Given the description of an element on the screen output the (x, y) to click on. 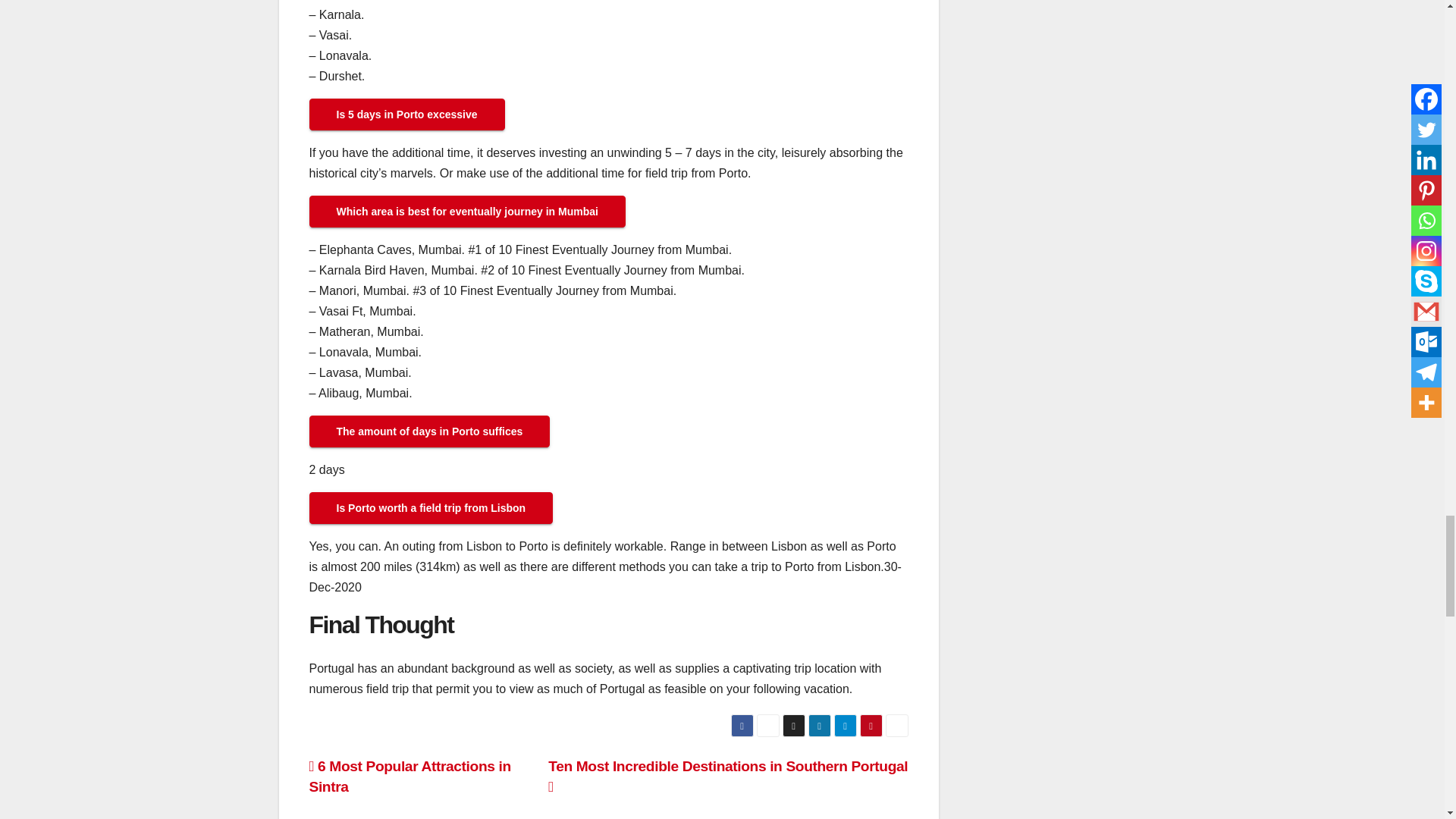
The amount of days in Porto suffices (429, 431)
Is 5 days in Porto excessive (406, 114)
Is Porto worth a field trip from Lisbon (430, 508)
Which area is best for eventually journey in Mumbai (467, 211)
